Given the description of an element on the screen output the (x, y) to click on. 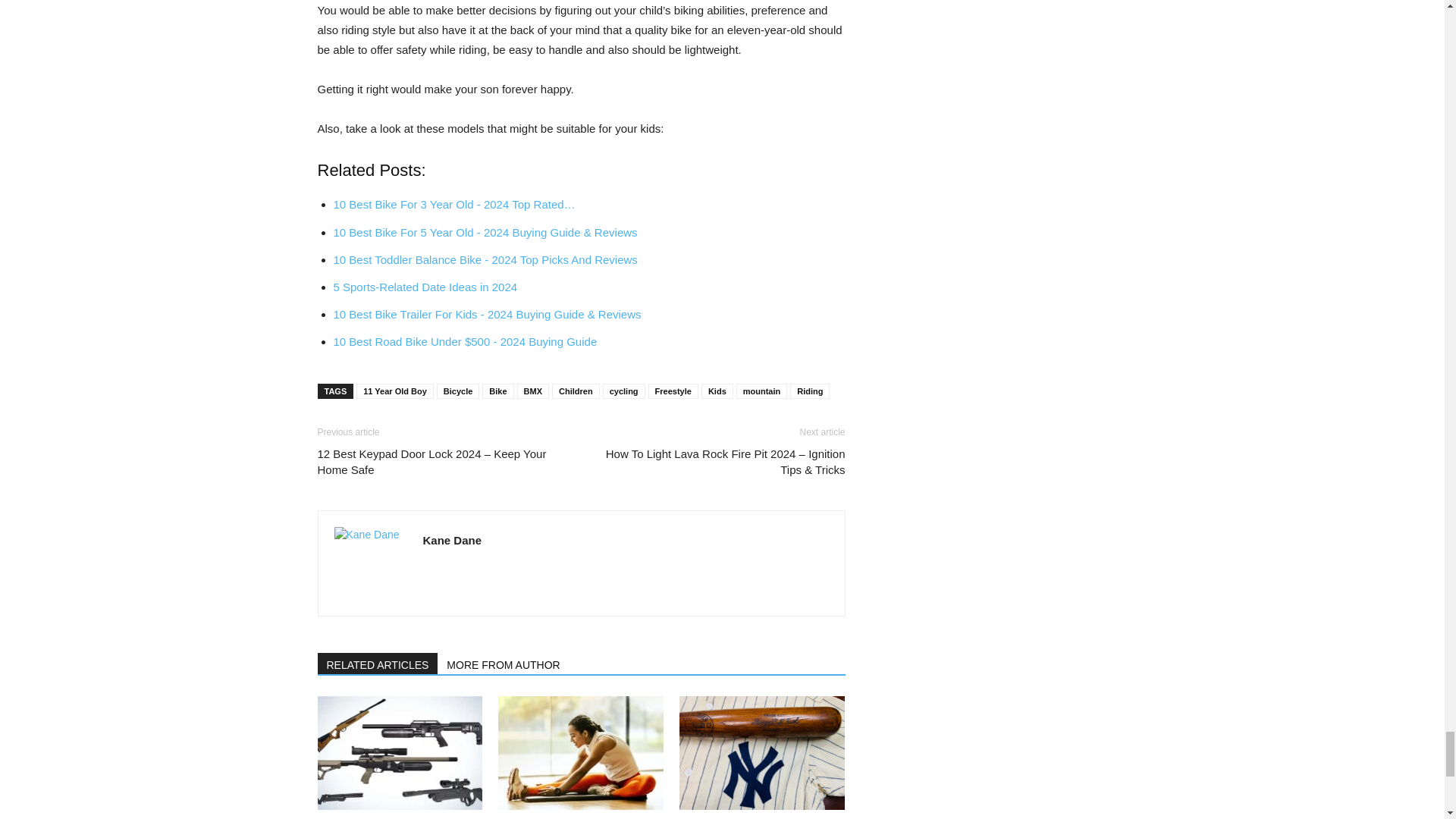
The Best Air Rifle Brands for Pest Control in 2024 (399, 752)
The Best Air Rifle Brands for Pest Control in 2024 (390, 817)
10 Best Toddler Balance Bike - 2024 Top Picks And Reviews (485, 259)
